Given the description of an element on the screen output the (x, y) to click on. 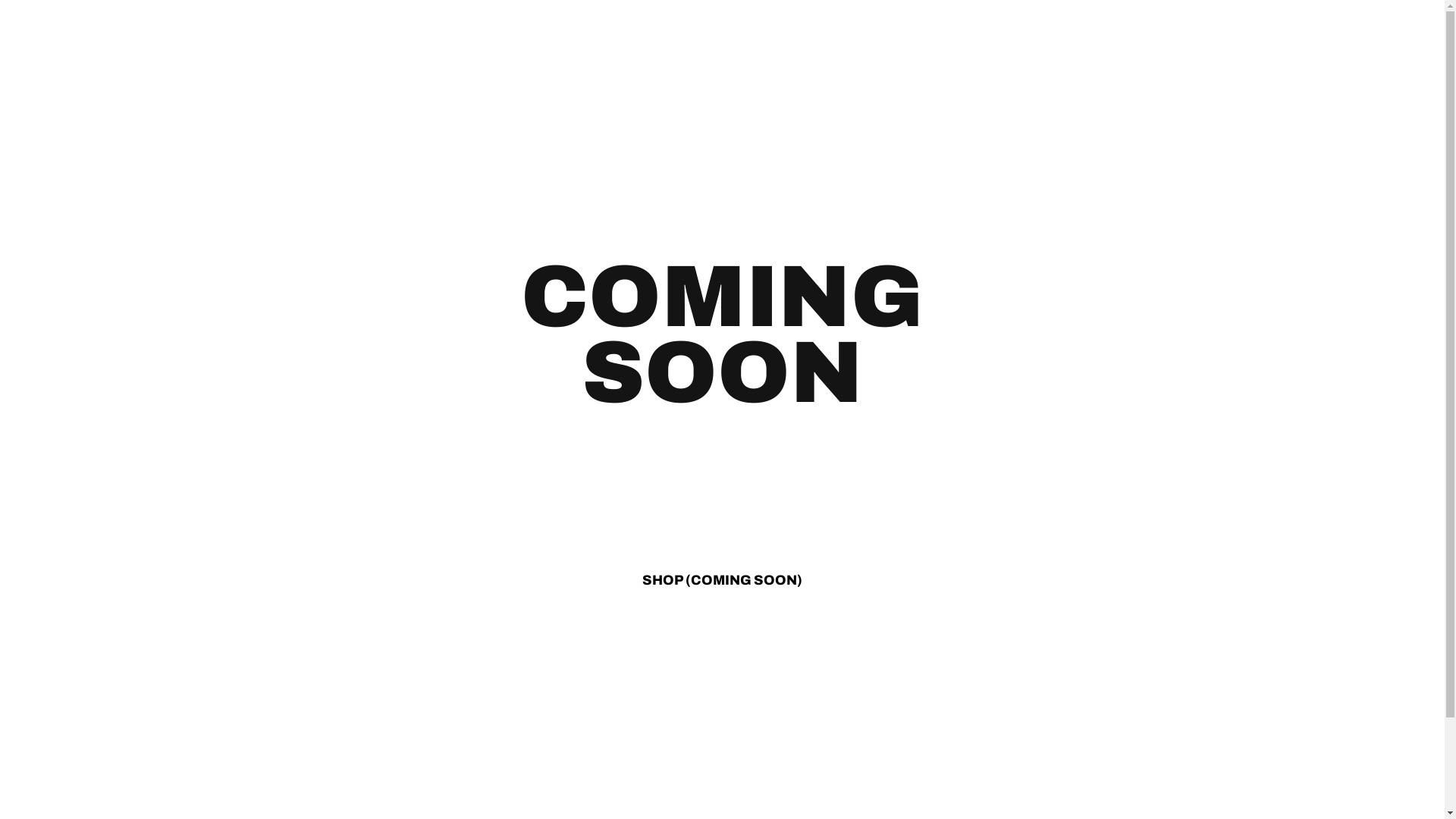
SHOP (COMING SOON) Element type: text (722, 580)
